Given the description of an element on the screen output the (x, y) to click on. 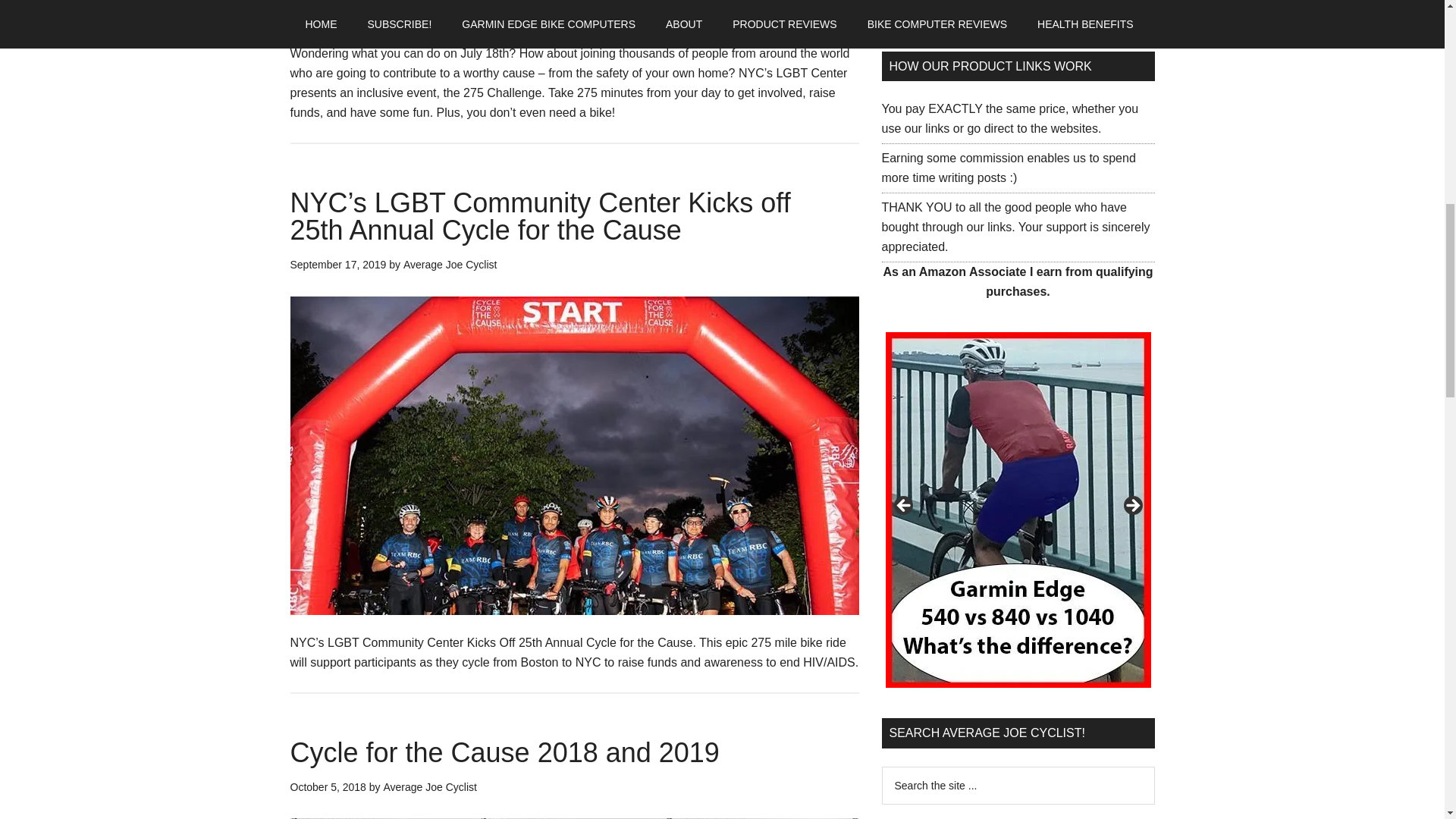
Slide 540 vs 840 vs 1040 copy (752, 509)
Slide 540 vs 840 vs 1040 2 copy (1018, 509)
